Given the description of an element on the screen output the (x, y) to click on. 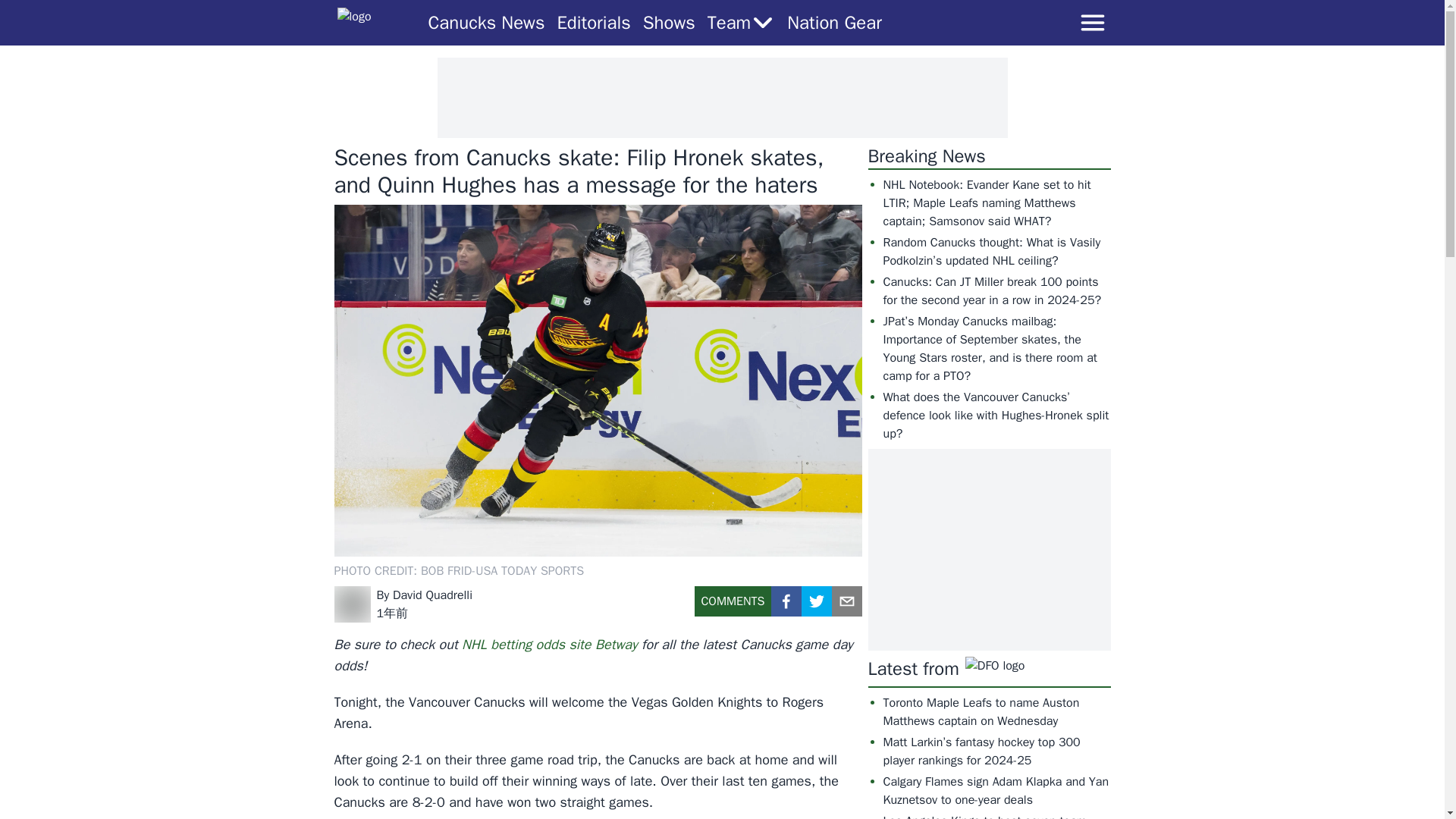
COMMENTS (732, 606)
Shows (669, 22)
David Quadrelli (432, 595)
Editorials (593, 22)
Nation Gear (834, 22)
Canucks News (486, 22)
NHL betting odds site Betway (549, 644)
